Given the description of an element on the screen output the (x, y) to click on. 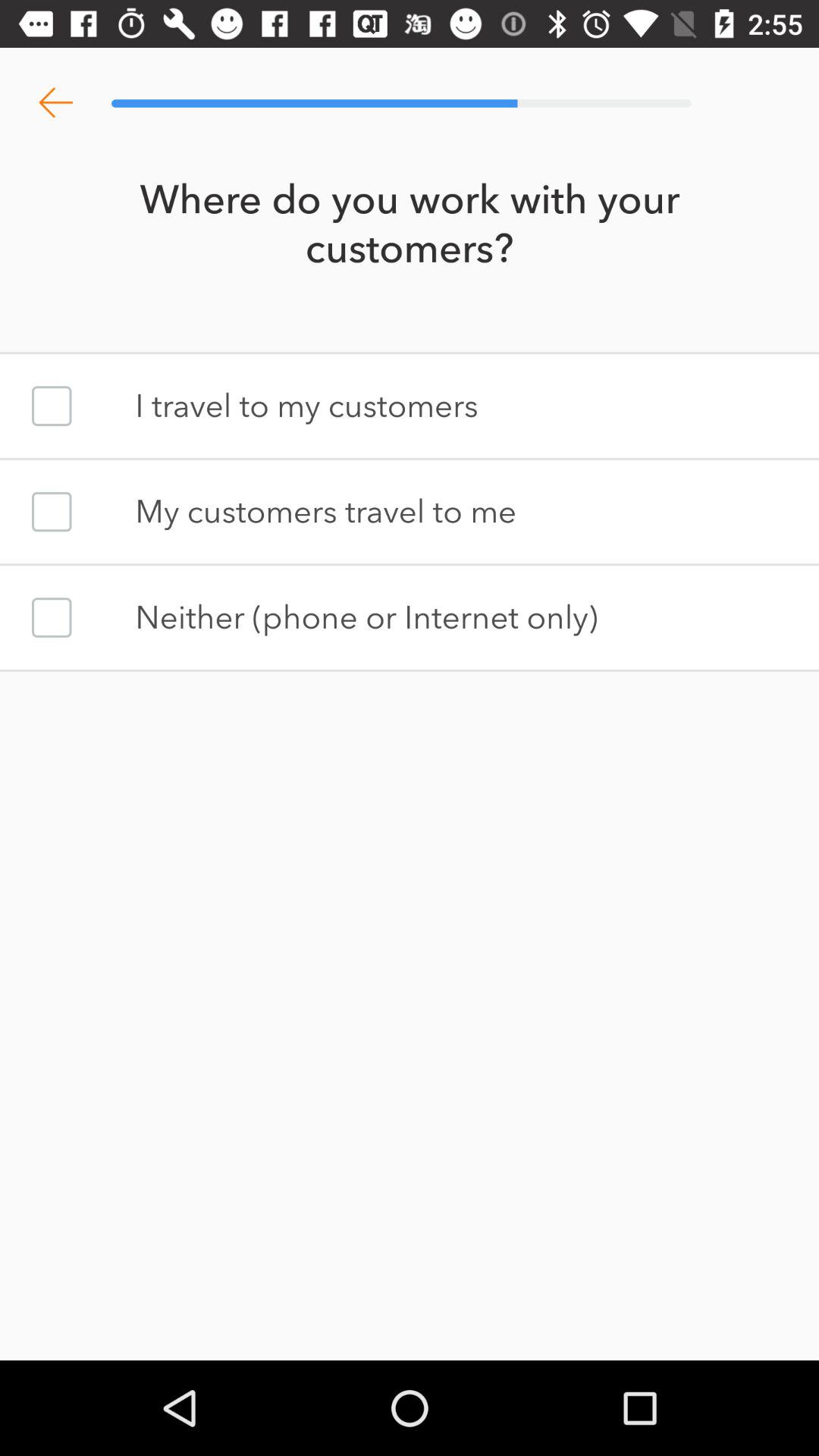
choose where you do work with your customers (51, 405)
